Given the description of an element on the screen output the (x, y) to click on. 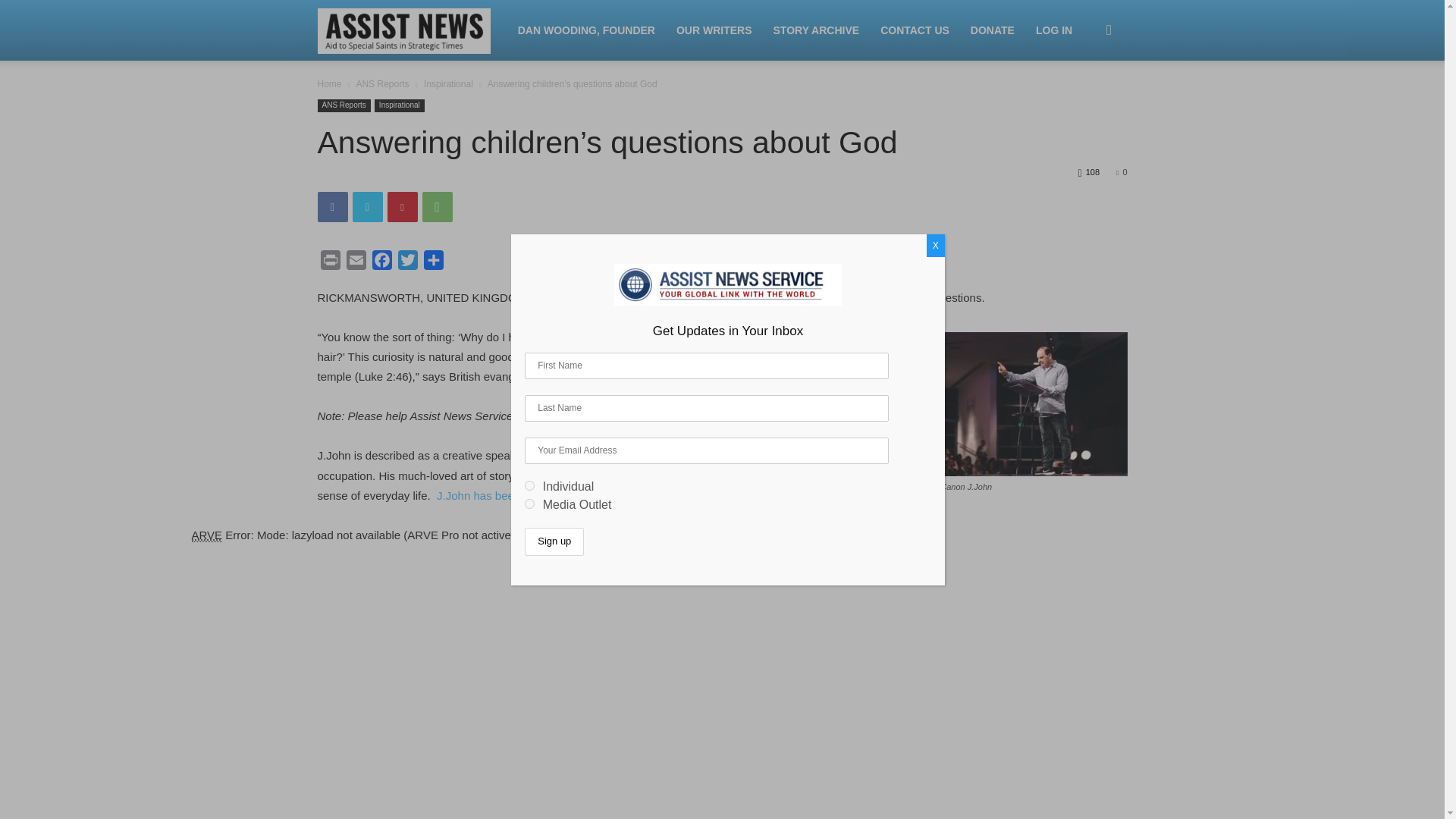
DAN WOODING, FOUNDER (585, 30)
Home (328, 83)
Print (329, 263)
ASSIST NEWS (411, 30)
DONATE (992, 30)
Twitter (366, 206)
Inspirational (448, 83)
Sign up (553, 541)
Facebook (332, 206)
CONTACT US (914, 30)
Inspirational (399, 105)
View all posts in ANS Reports (382, 83)
WhatsApp (436, 206)
Search (1085, 102)
ANS Reports (382, 83)
